Given the description of an element on the screen output the (x, y) to click on. 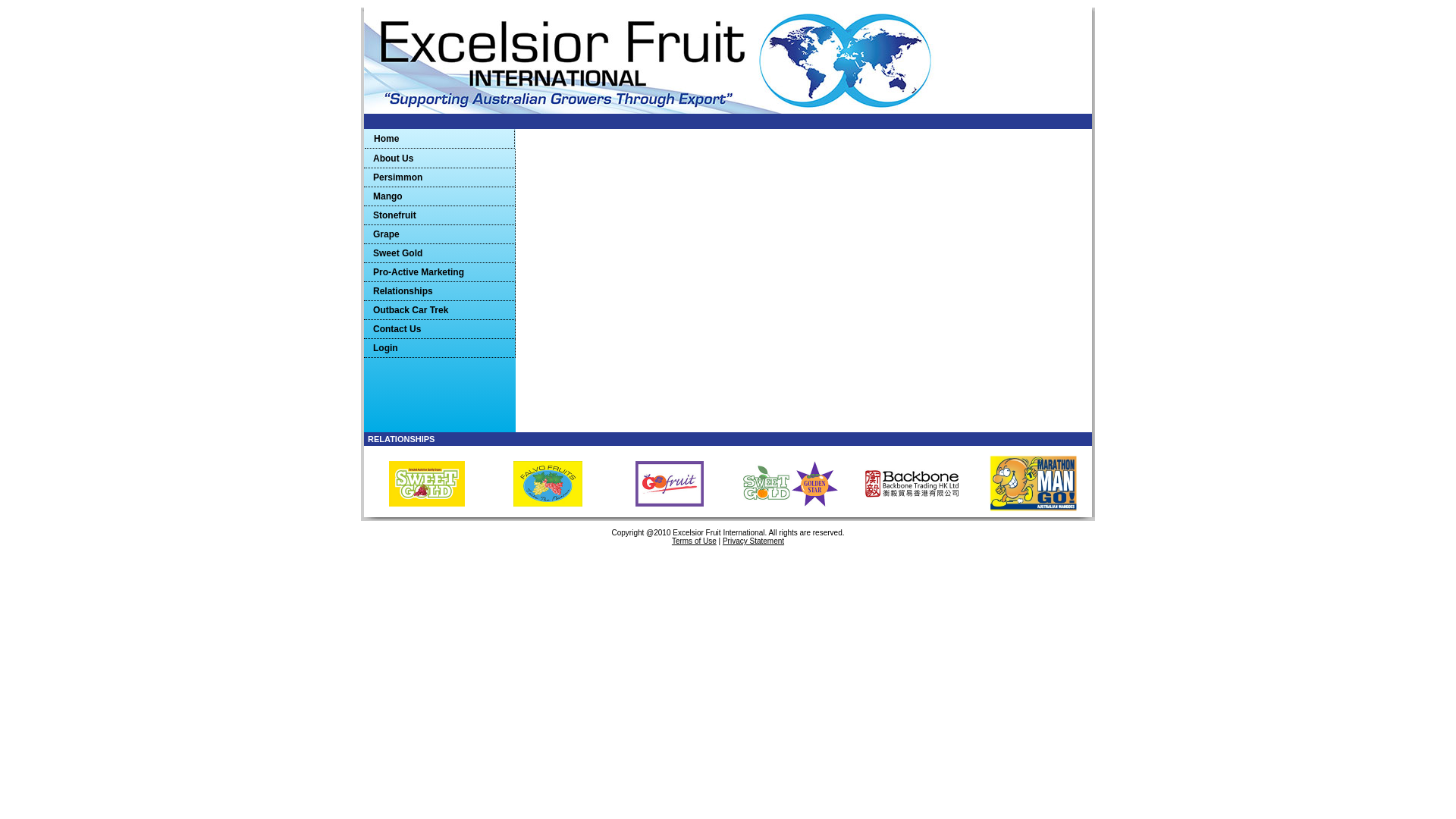
Home Element type: text (439, 138)
Contact Us Element type: text (439, 329)
Grape Element type: text (439, 234)
Pro-Active Marketing Element type: text (439, 272)
Home Element type: text (439, 138)
Login Element type: text (439, 347)
Stonefruit Element type: text (439, 215)
Persimmon Element type: text (439, 177)
Privacy Statement Element type: text (753, 540)
Mango Element type: text (439, 196)
About Us Element type: text (439, 158)
Terms of Use Element type: text (693, 540)
Sweet Gold Element type: text (439, 253)
Outback Car Trek Element type: text (439, 310)
Relationships Element type: text (439, 291)
